Given the description of an element on the screen output the (x, y) to click on. 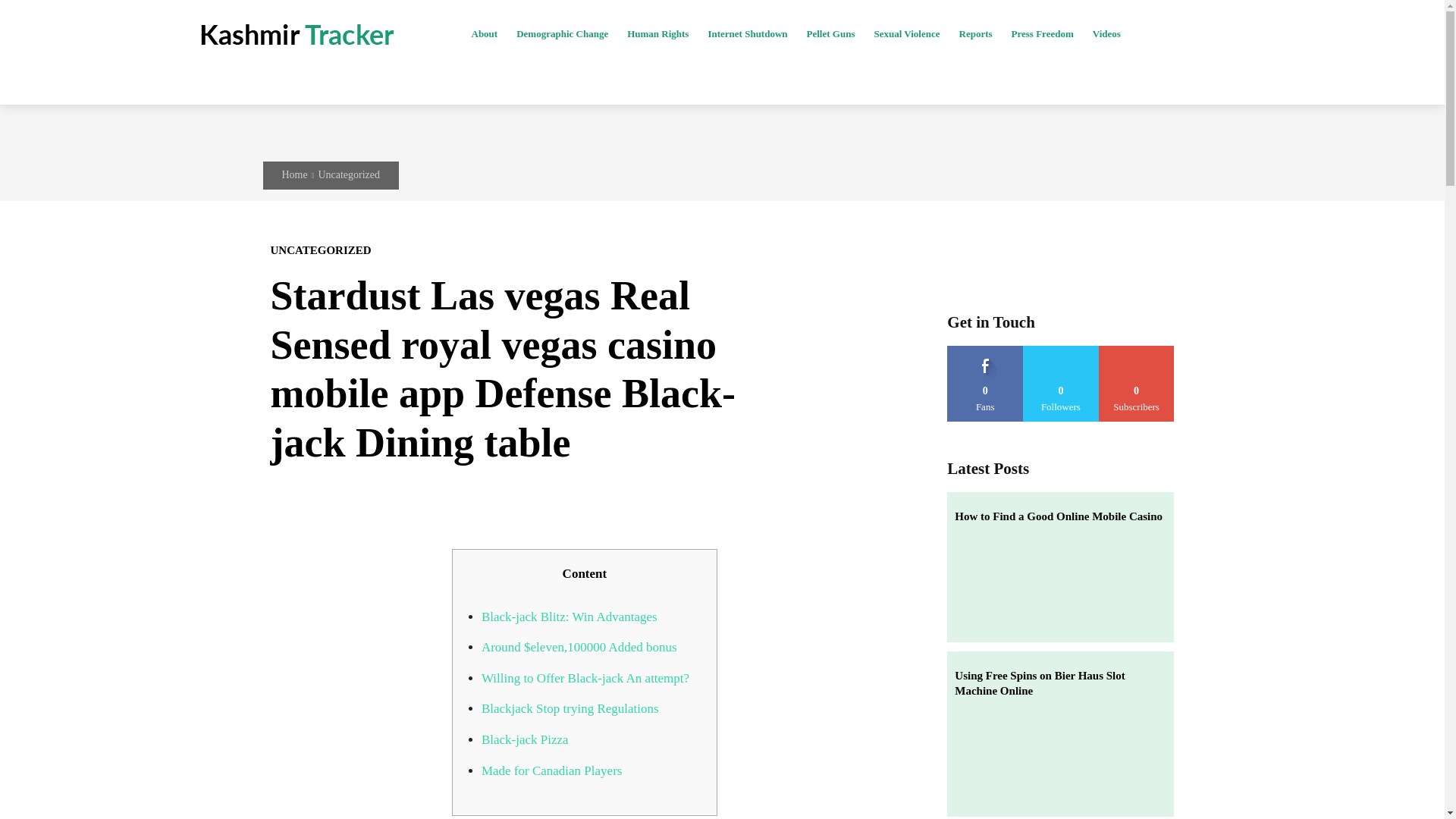
Black-jack Blitz: Win Advantages (569, 616)
Demographic Change (561, 34)
Uncategorized (348, 174)
Pellet Guns (831, 34)
UNCATEGORIZED (320, 250)
Internet Shutdown (746, 34)
Human Rights (658, 34)
View all posts in Uncategorized (348, 174)
Sexual Violence (906, 34)
Press Freedom (1042, 34)
Home (294, 174)
